Given the description of an element on the screen output the (x, y) to click on. 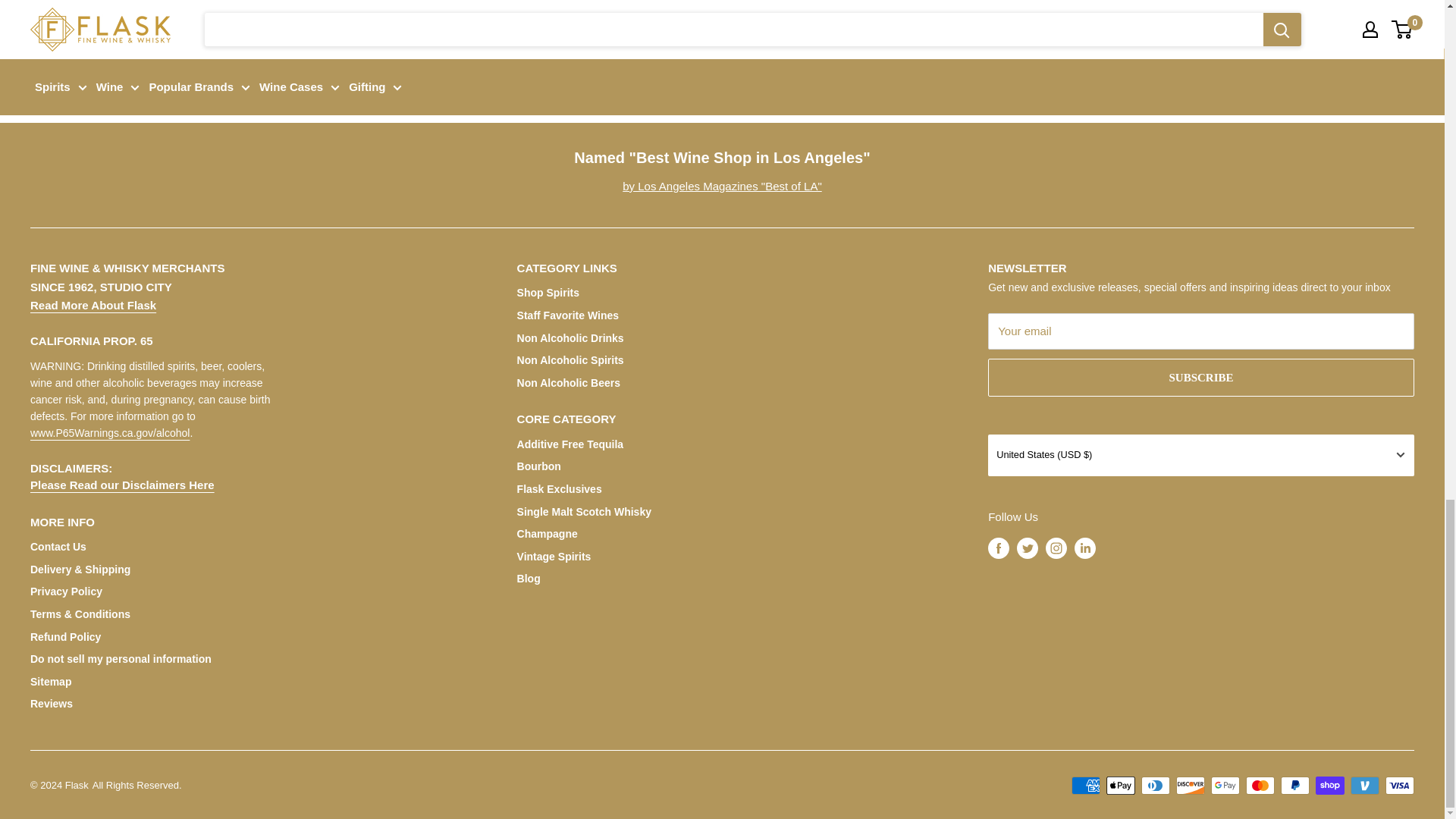
About Us (92, 305)
Disclaimer (122, 484)
